Given the description of an element on the screen output the (x, y) to click on. 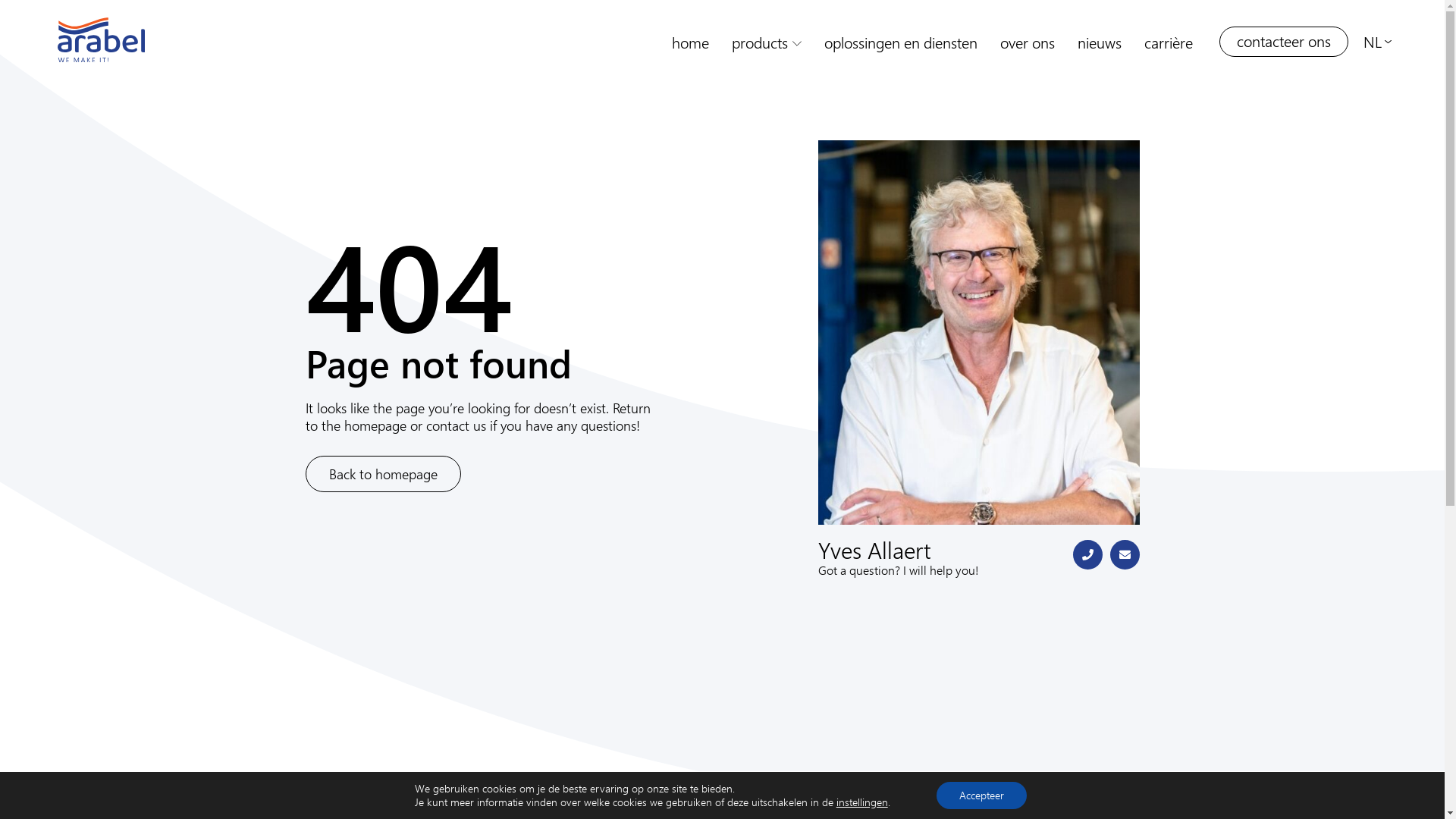
nieuws Element type: text (1099, 41)
instellingen Element type: text (862, 802)
Accepteer Element type: text (981, 795)
products Element type: text (766, 41)
NL Element type: text (1378, 41)
over ons Element type: text (1027, 41)
home Element type: text (690, 41)
Back to homepage Element type: text (382, 473)
oplossingen en diensten Element type: text (900, 41)
contacteer ons Element type: text (1283, 41)
